Given the description of an element on the screen output the (x, y) to click on. 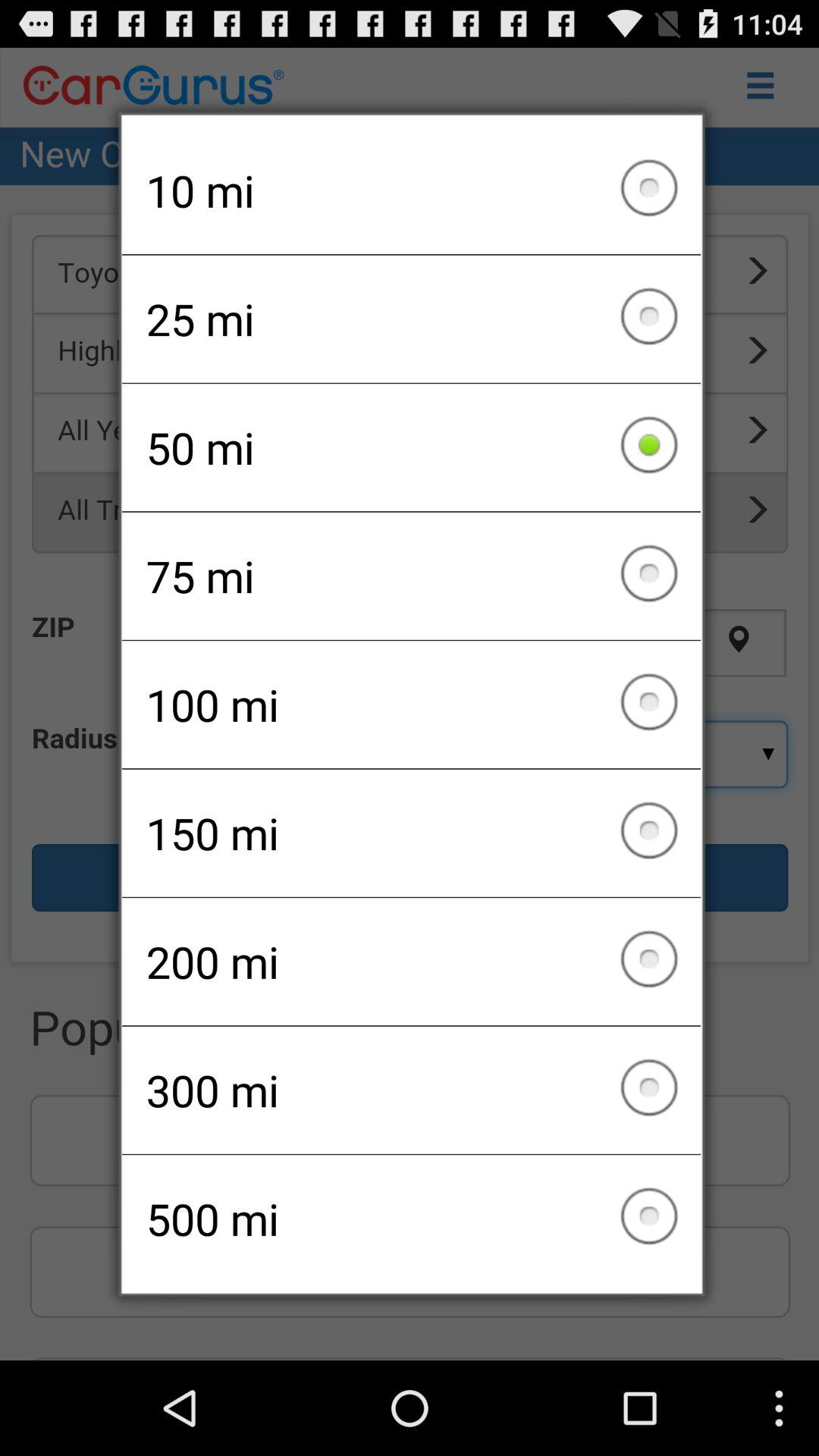
turn off the item above the 150 mi checkbox (411, 704)
